Given the description of an element on the screen output the (x, y) to click on. 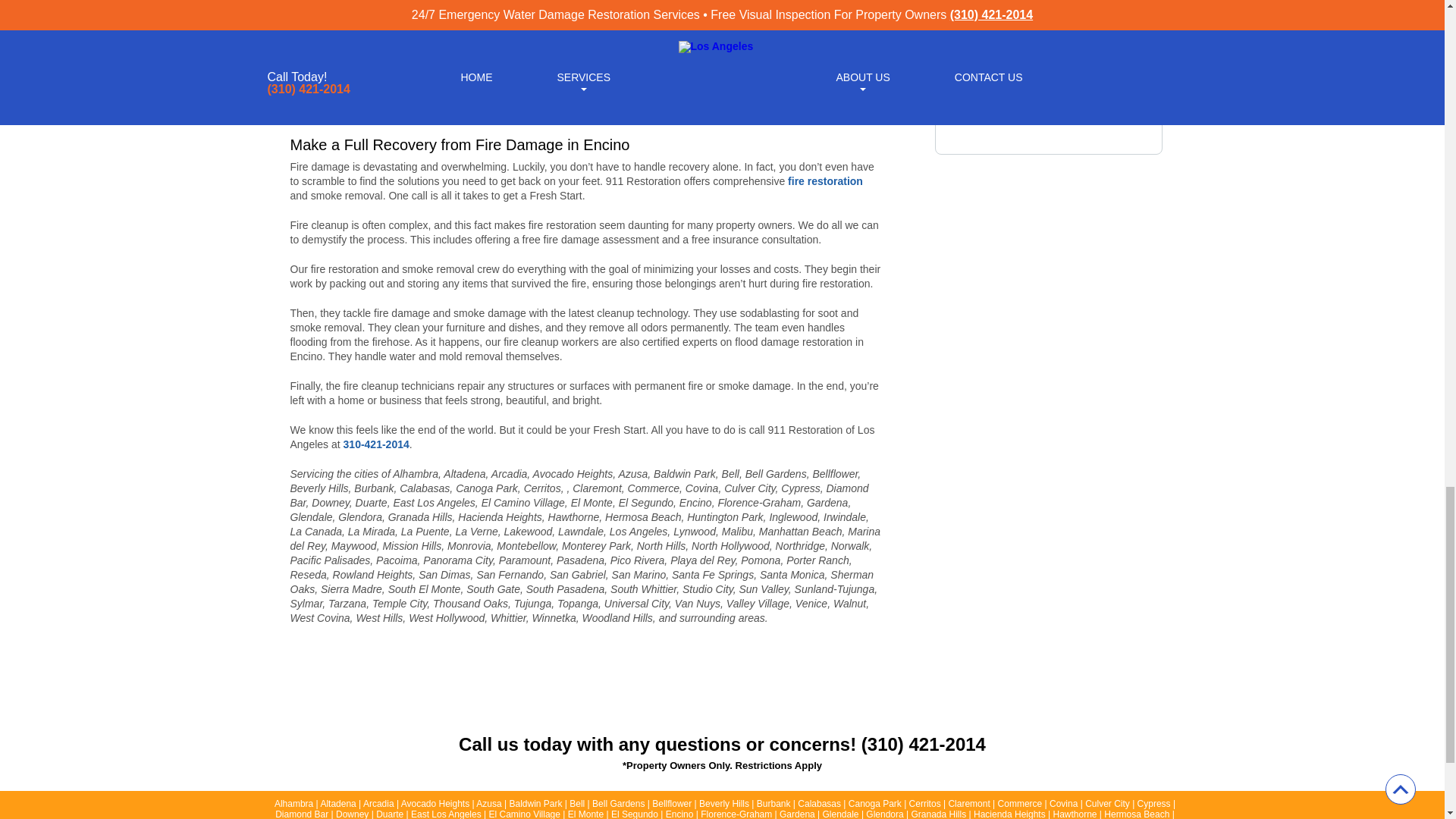
Scroll to Up (1400, 788)
Get Help Now (1048, 30)
